Given the description of an element on the screen output the (x, y) to click on. 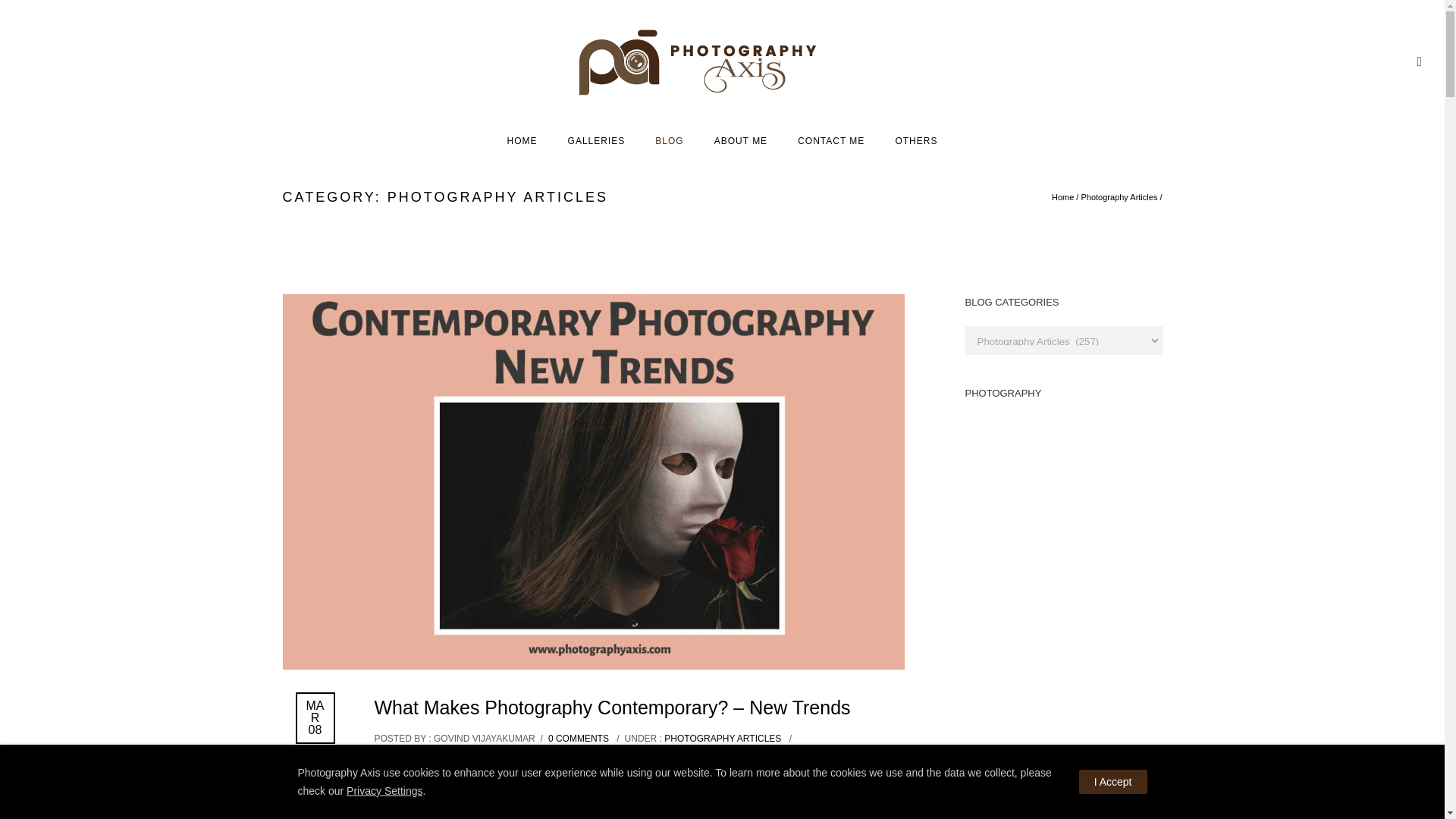
HOME (522, 140)
Contact ME (831, 140)
Home (522, 140)
Photography Articles (1118, 196)
About ME (740, 140)
ABOUT ME (740, 140)
CONTACT ME (831, 140)
0 COMMENTS (578, 738)
Home (1062, 196)
Blog (669, 140)
